Given the description of an element on the screen output the (x, y) to click on. 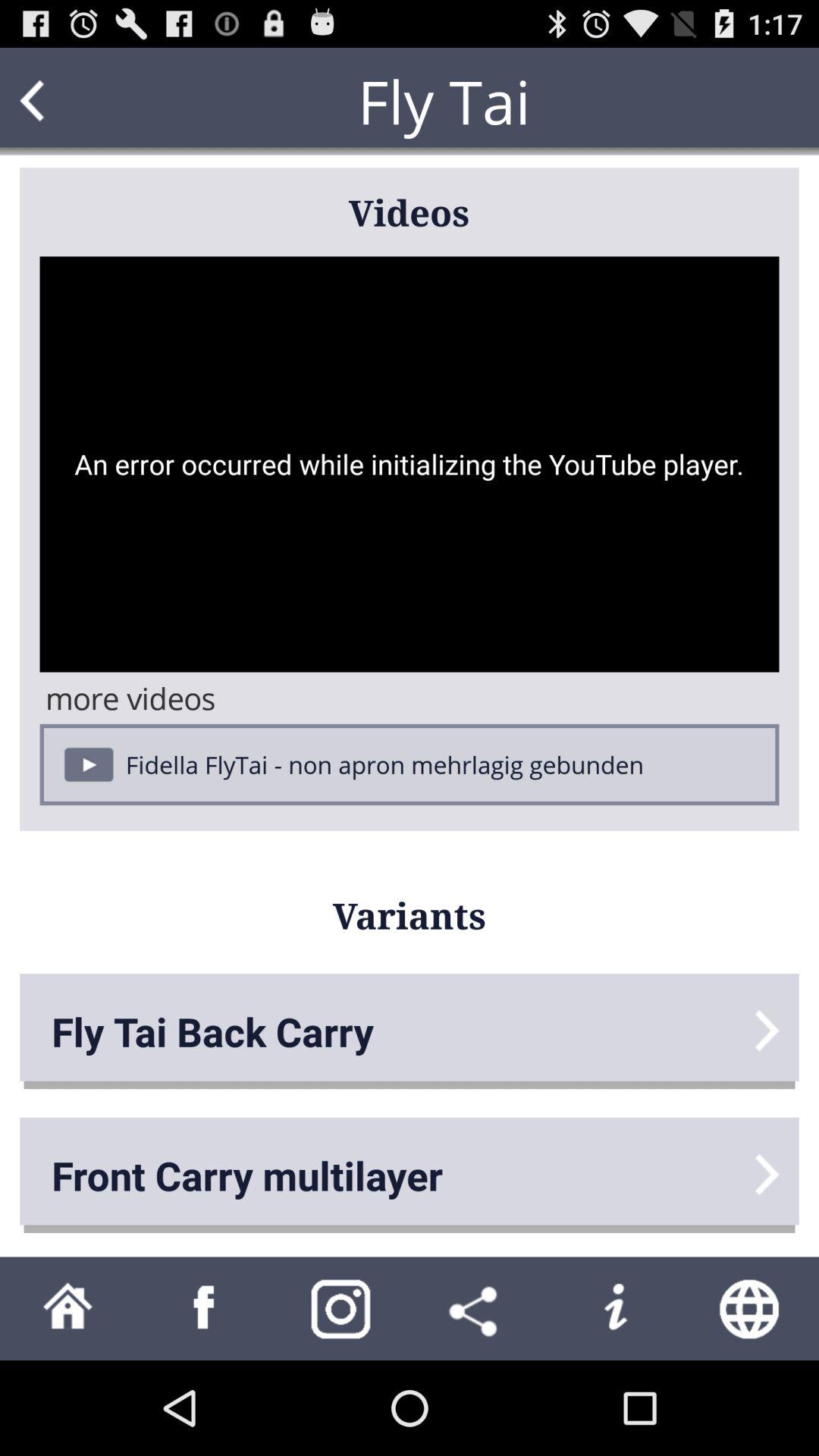
search web (750, 1308)
